Given the description of an element on the screen output the (x, y) to click on. 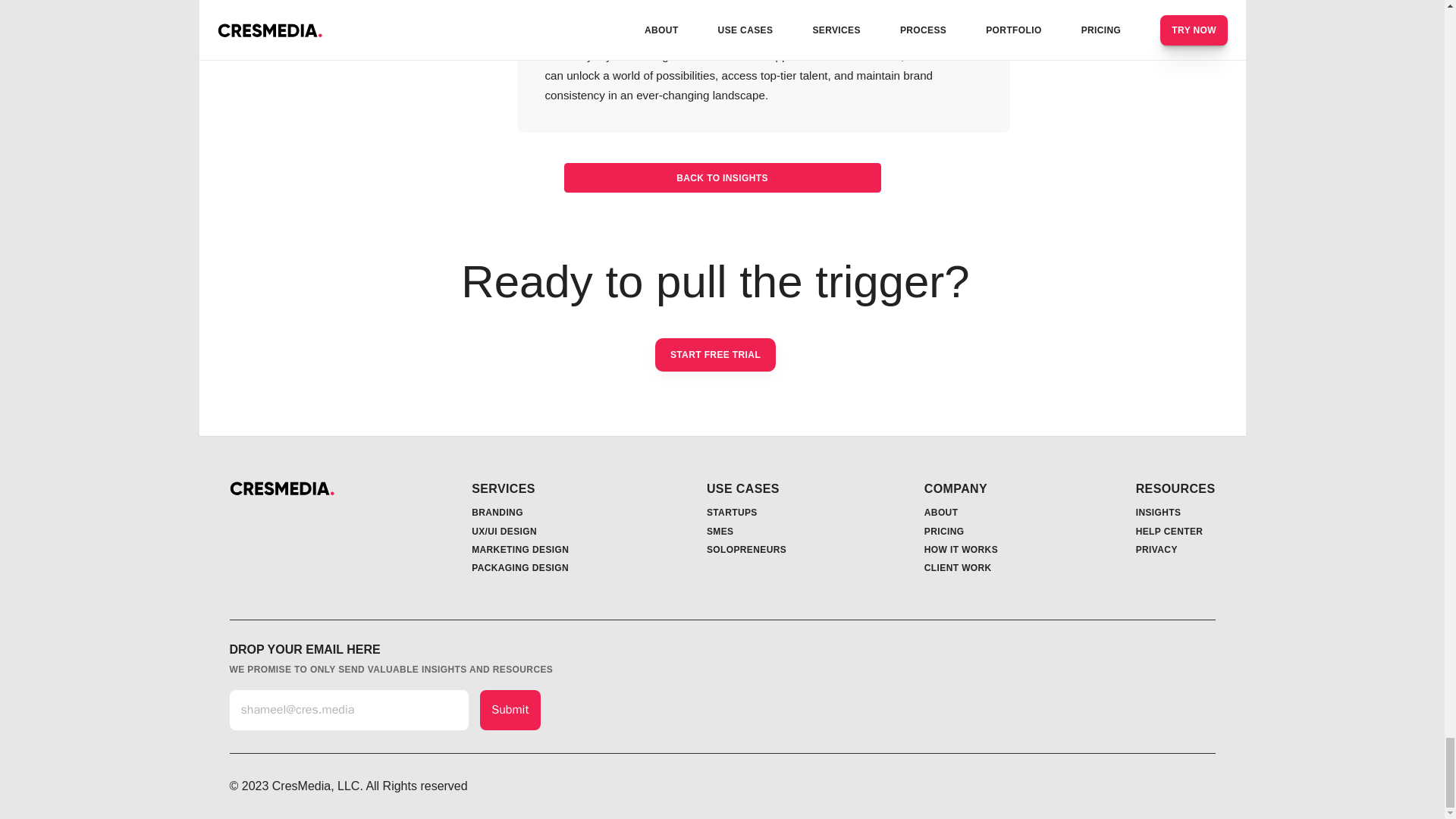
Submit (510, 709)
USE CASES (742, 488)
PACKAGING DESIGN (520, 567)
PRICING (943, 531)
BACK TO INSIGHTS (722, 177)
CLIENT WORK (957, 567)
HELP CENTER (1169, 531)
SMES (719, 531)
START FREE TRIAL (715, 354)
Submit (510, 709)
BRANDING (496, 511)
STARTUPS (731, 511)
PRIVACY (1156, 549)
SERVICES (503, 488)
INSIGHTS (1157, 511)
